Given the description of an element on the screen output the (x, y) to click on. 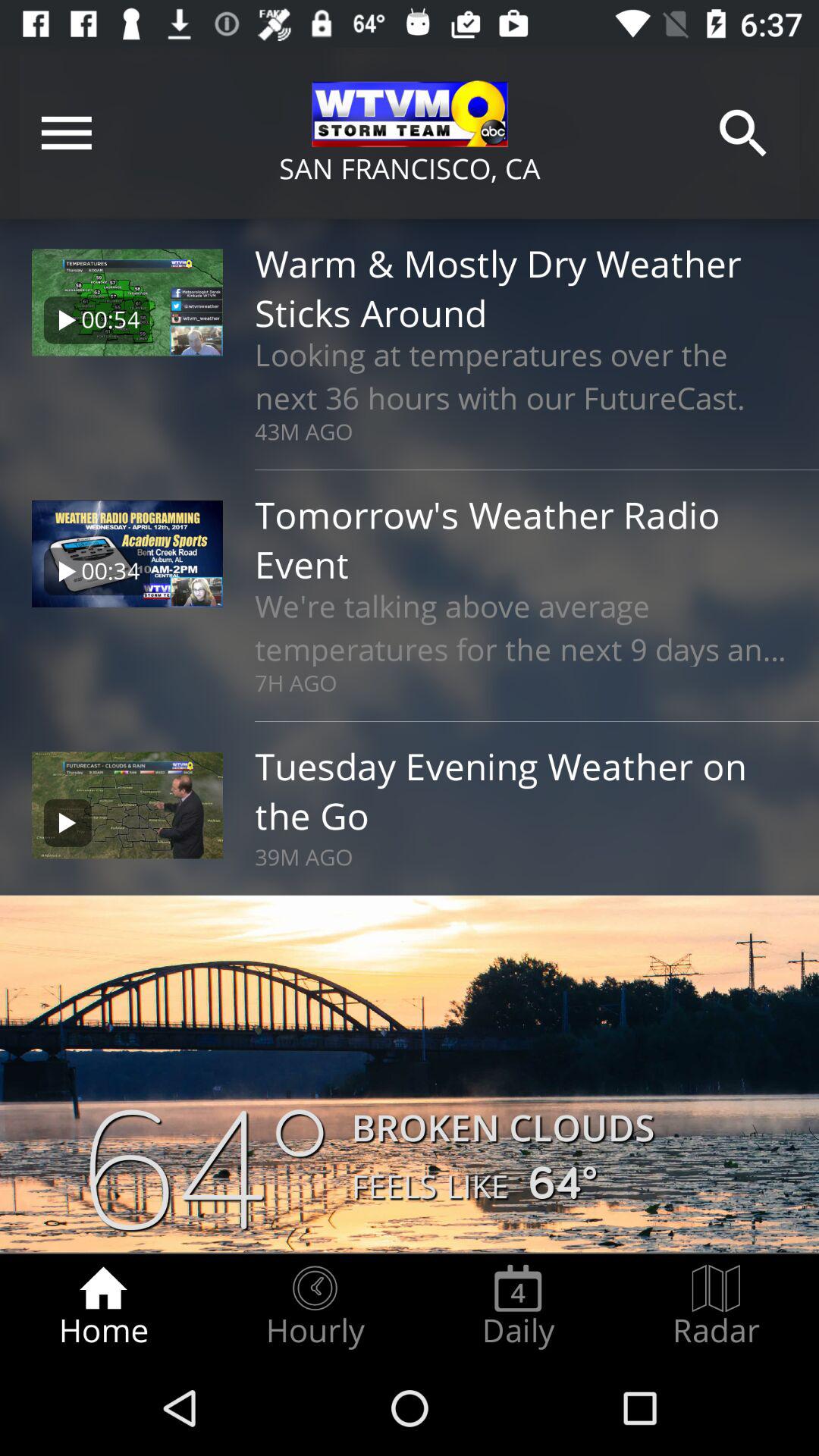
click icon next to radar radio button (518, 1307)
